Given the description of an element on the screen output the (x, y) to click on. 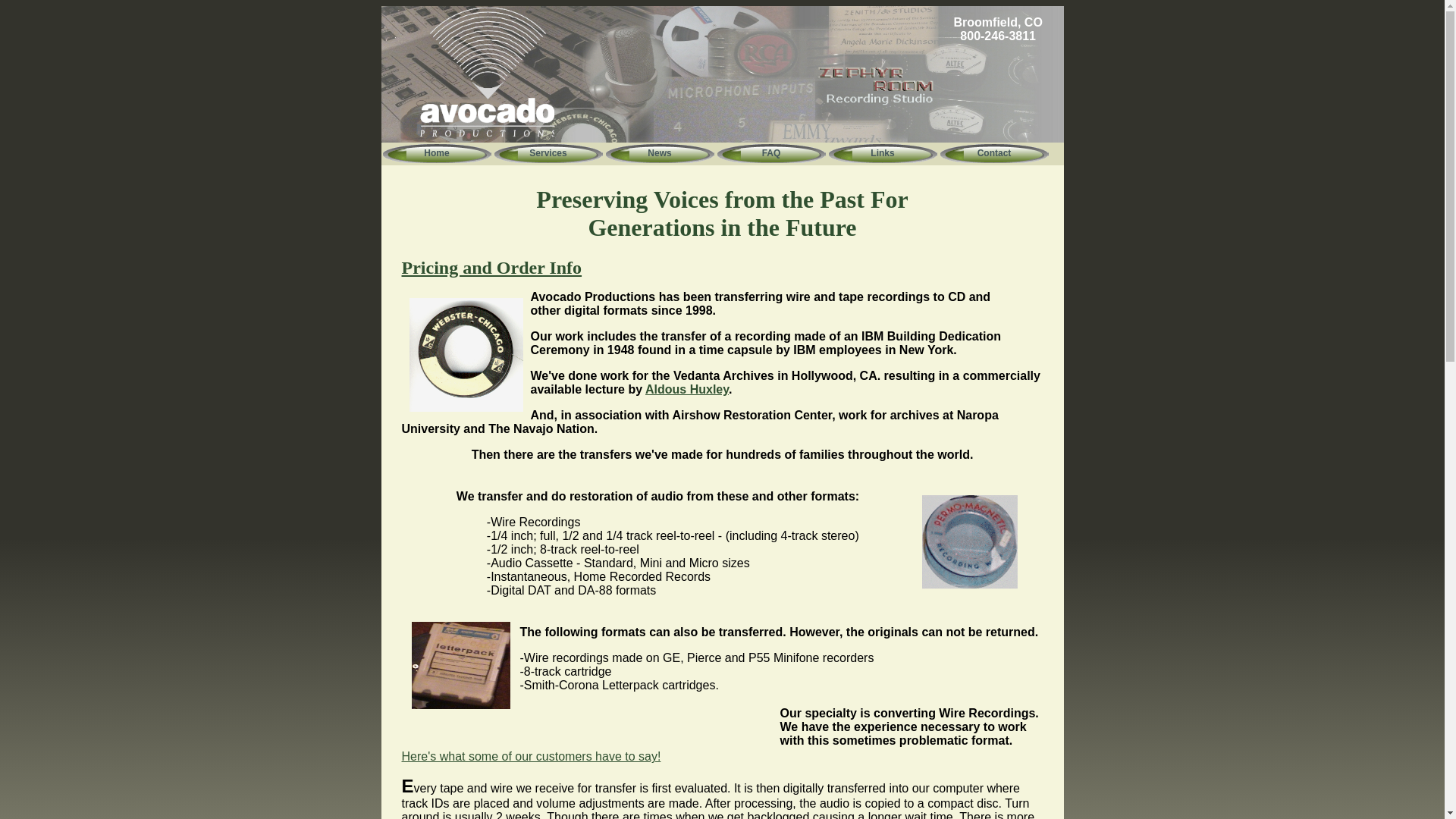
Services (548, 153)
Home (435, 153)
Contact (994, 153)
Pricing and Order Info (491, 267)
Here's what some of our customers have to say! (531, 756)
Links (882, 153)
Aldous Huxley (687, 389)
News (659, 153)
FAQ (771, 153)
